Given the description of an element on the screen output the (x, y) to click on. 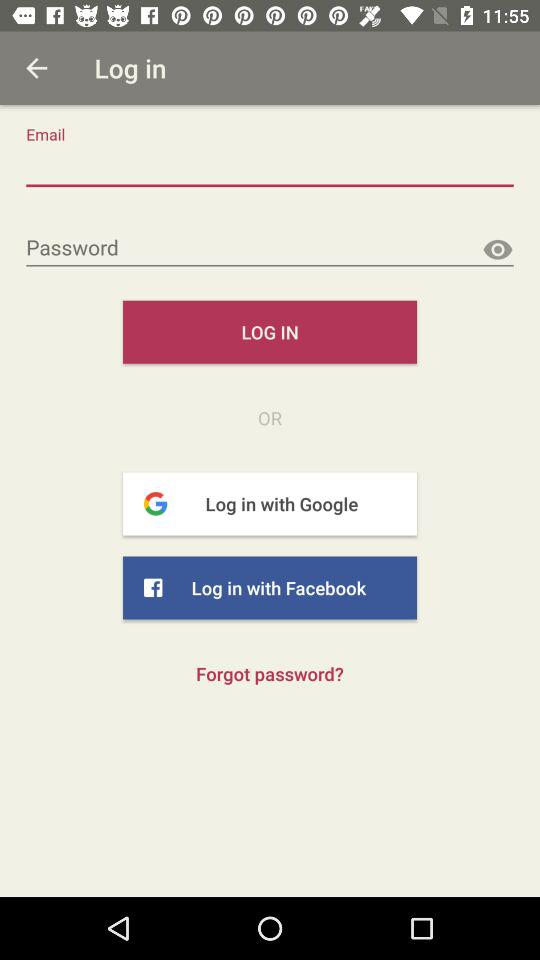
enter email (270, 168)
